Given the description of an element on the screen output the (x, y) to click on. 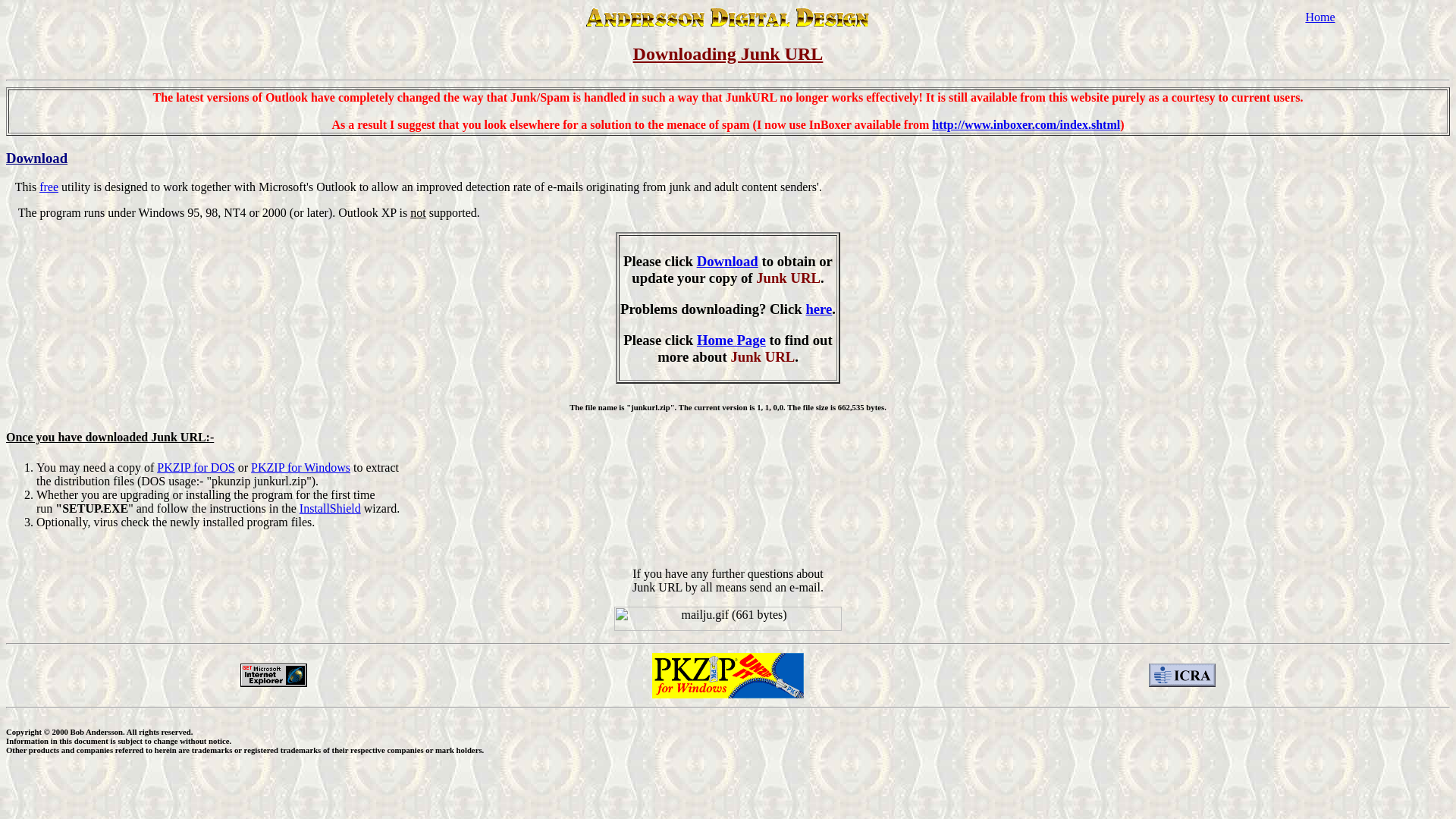
PKZIP for DOS (195, 467)
Home (1319, 16)
Home Page (731, 340)
Download (727, 261)
free (48, 186)
PKZIP for Windows (300, 467)
InstallShield (330, 508)
here (818, 308)
